Given the description of an element on the screen output the (x, y) to click on. 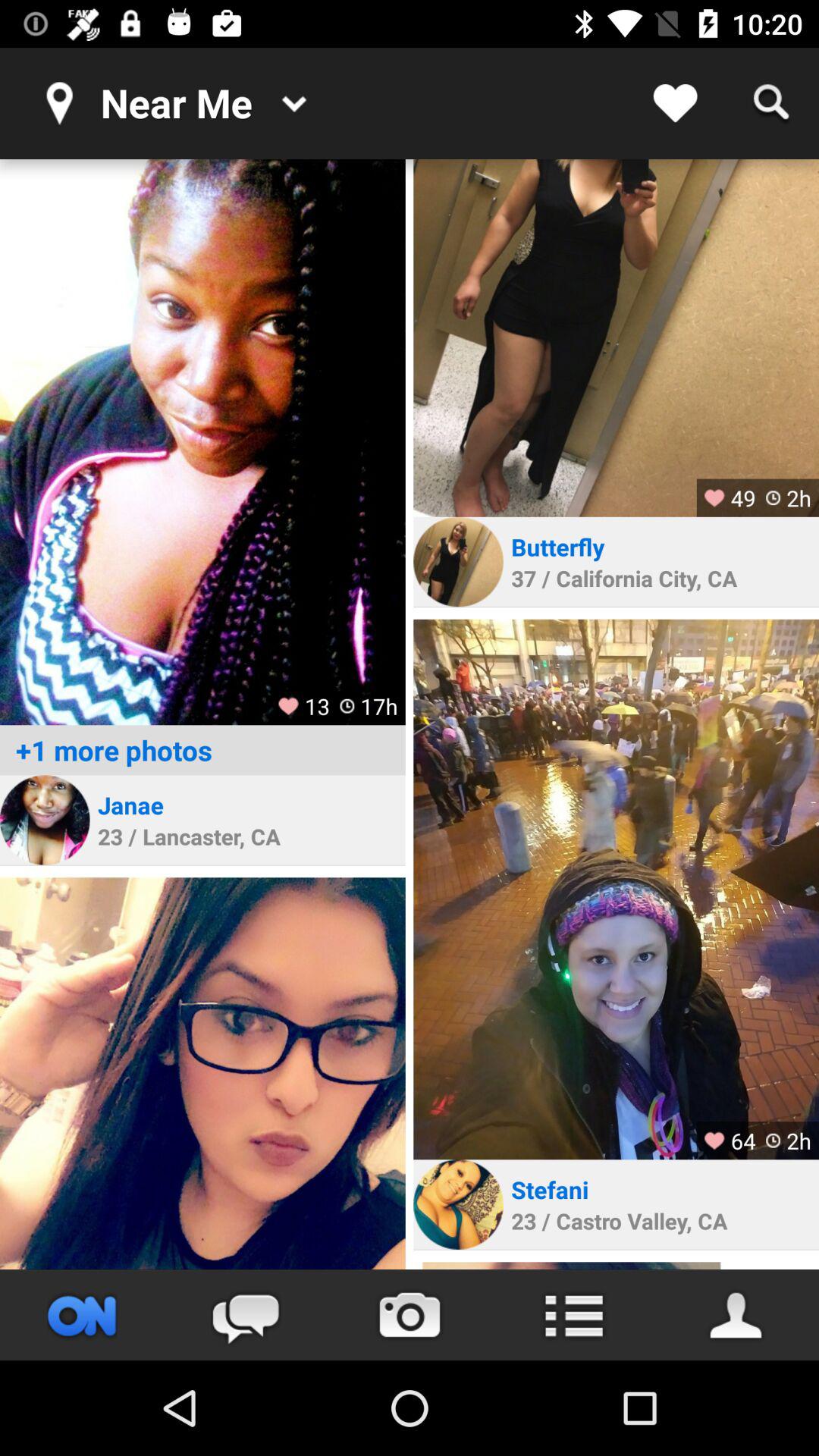
view photos (202, 442)
